Given the description of an element on the screen output the (x, y) to click on. 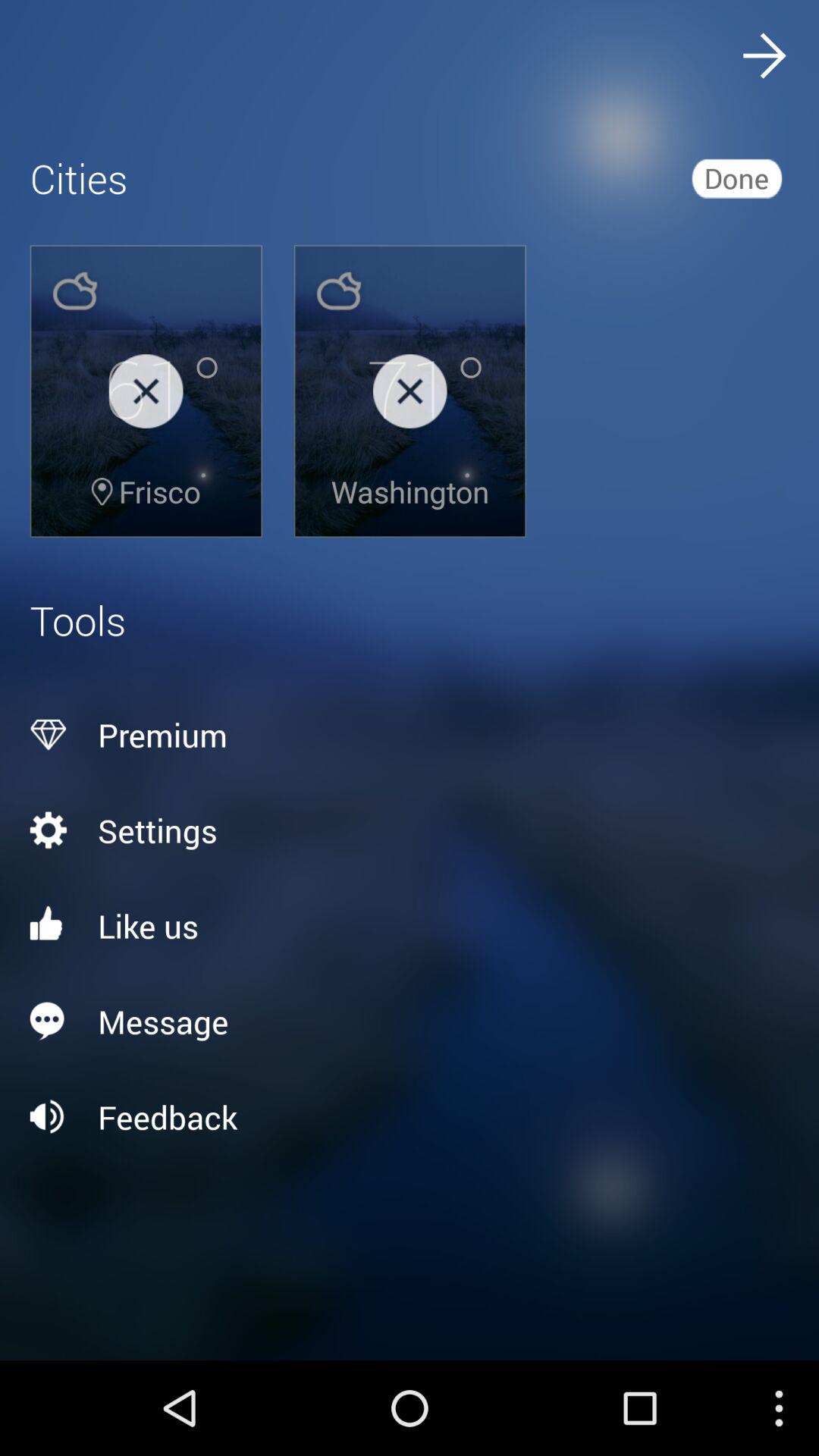
turn on done (736, 178)
